Given the description of an element on the screen output the (x, y) to click on. 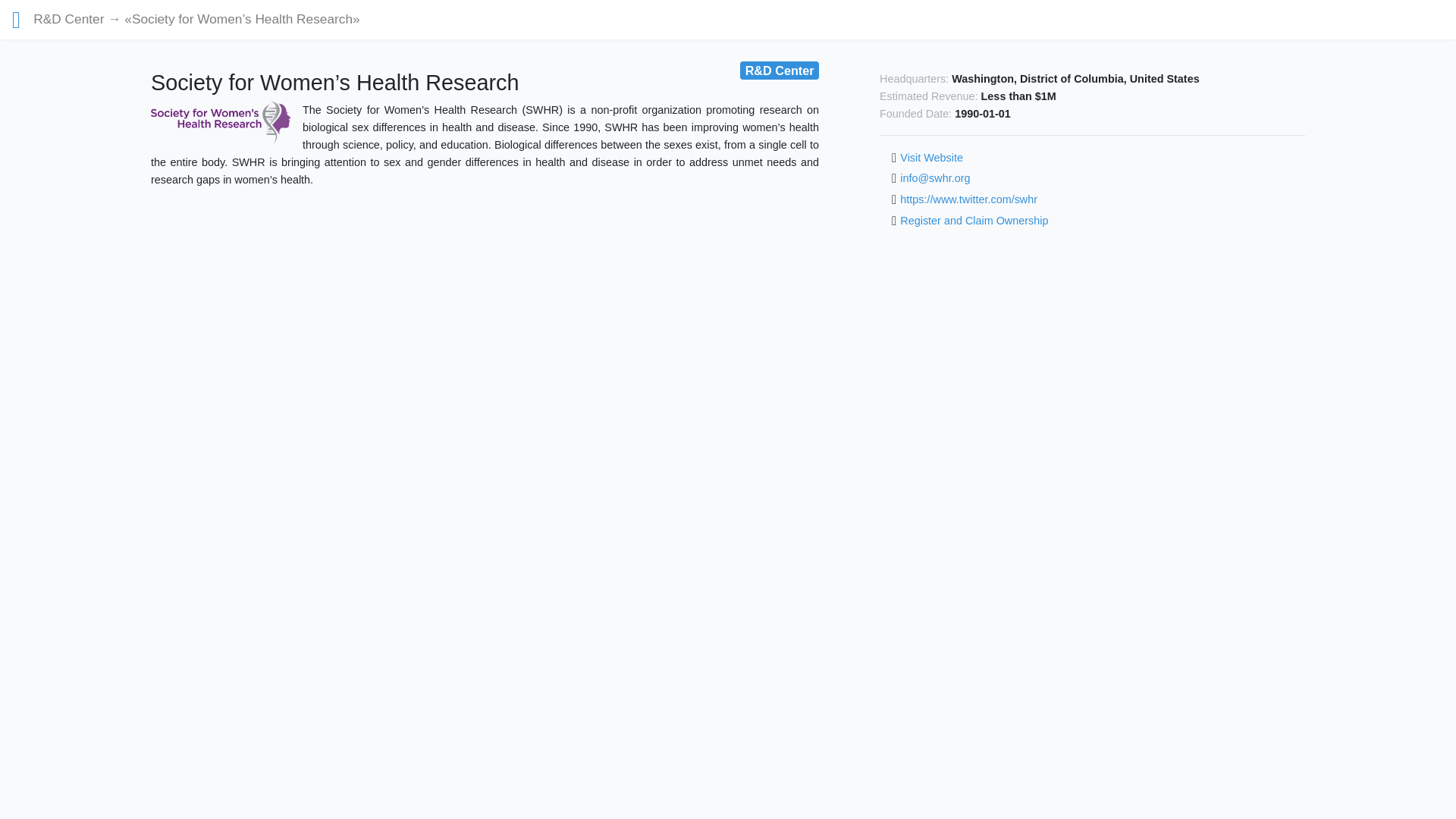
Visit Website (930, 156)
Register and Claim Ownership (973, 219)
Type (778, 70)
